Given the description of an element on the screen output the (x, y) to click on. 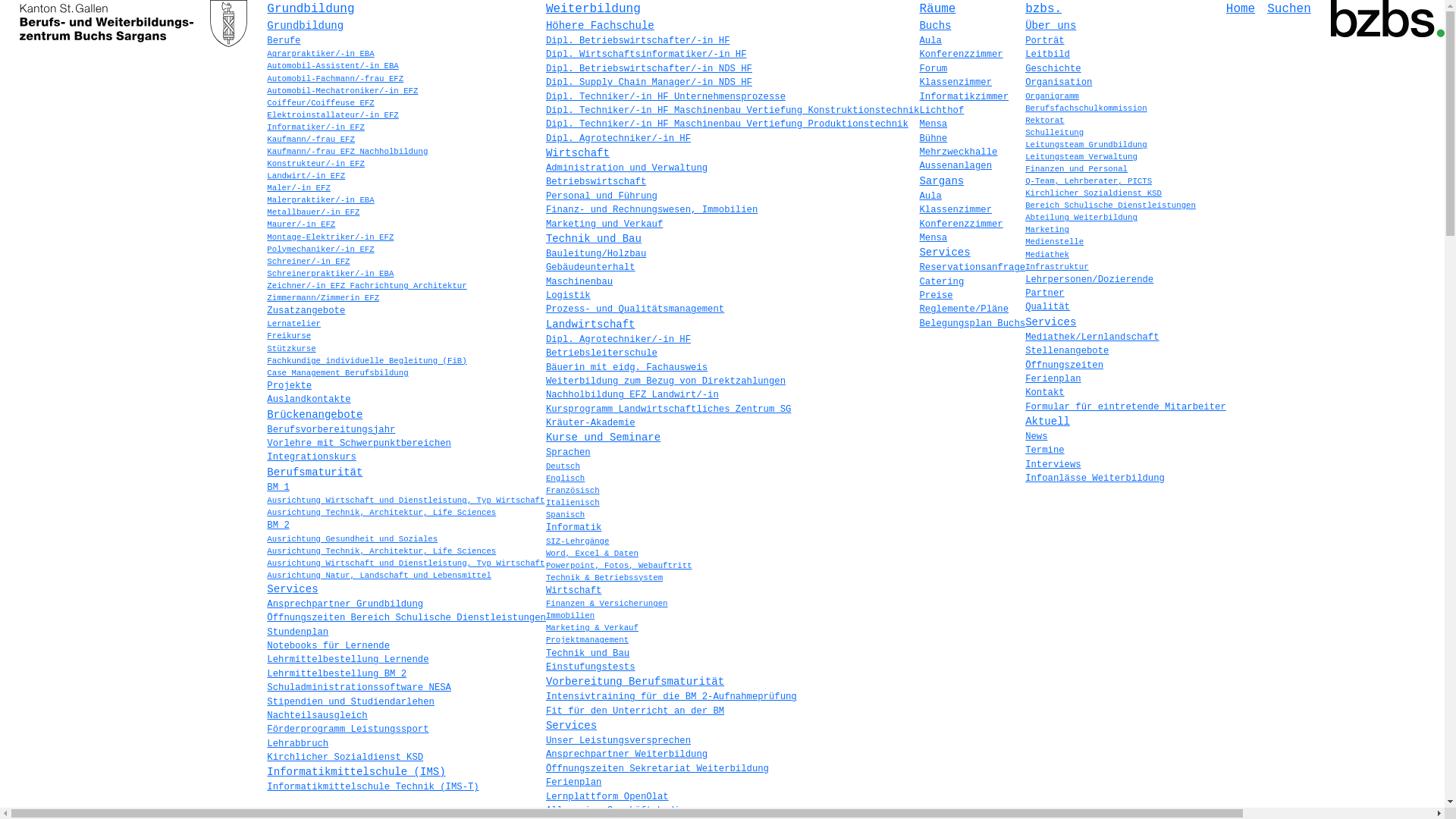
Lehrmittelbestellung BM 2 Element type: text (336, 673)
Buchs Element type: text (934, 25)
Immobilien Element type: text (570, 615)
Schulleitung Element type: text (1054, 132)
Zusatzangebote Element type: text (305, 310)
Q-Team, Lehrberater, PICTS Element type: text (1088, 180)
Ferienplan Element type: text (574, 782)
Berufsfachschulkommission Element type: text (1086, 107)
Stellenangebote Element type: text (1066, 350)
Leitungsteam Grundbildung Element type: text (1086, 144)
Integrationskurs Element type: text (311, 456)
Home Element type: text (1240, 8)
Mediathek Element type: text (1047, 254)
Leitungsteam Verwaltung Element type: text (1081, 156)
Mediathek/Lernlandschaft Element type: text (1091, 337)
Projektmanagement Element type: text (587, 639)
Dipl. Wirtschaftsinformatiker/-in HF Element type: text (646, 54)
Mensa Element type: text (933, 124)
Dipl. Agrotechniker/-in HF Element type: text (618, 339)
Interviews Element type: text (1053, 464)
Marketing und Verkauf Element type: text (604, 223)
Sargans Element type: text (941, 181)
Polymechaniker/-in EFZ Element type: text (319, 249)
Bereich Schulische Dienstleistungen Element type: text (1110, 205)
Partner Element type: text (1044, 293)
Lehrabbruch Element type: text (297, 743)
Deutsch Element type: text (563, 465)
Geschichte Element type: text (1053, 68)
Informatikmittelschule Technik (IMS-T) Element type: text (372, 786)
Termine Element type: text (1044, 450)
Lehrpersonen/Dozierende Element type: text (1089, 279)
Konstrukteur/-in EFZ Element type: text (315, 163)
Ausrichtung Wirtschaft und Dienstleistung, Typ Wirtschaft Element type: text (405, 562)
Grundbildung Element type: text (304, 25)
Berufe Element type: text (283, 40)
Informatiker/-in EFZ Element type: text (315, 126)
Spanisch Element type: text (565, 514)
Schreinerpraktiker/-in EBA Element type: text (329, 273)
Maurer/-in EFZ Element type: text (300, 224)
Dipl. Supply Chain Manager/-in NDS HF Element type: text (649, 82)
Mensa Element type: text (933, 237)
Ferienplan Element type: text (1053, 378)
Ausrichtung Natur, Landschaft und Lebensmittel Element type: text (378, 575)
Kontakt Element type: text (1044, 392)
Coiffeur/Coiffeuse EFZ Element type: text (319, 102)
Ausrichtung Technik, Architektur, Life Sciences Element type: text (380, 512)
Services Element type: text (571, 725)
Automobil-Mechatroniker/-in EFZ Element type: text (341, 90)
Wirtschaft Element type: text (574, 590)
Kurse und Seminare Element type: text (603, 437)
Infrastruktur Element type: text (1056, 266)
Word, Excel & Daten Element type: text (592, 553)
Unser Leistungsversprechen Element type: text (618, 740)
Wirtschaft Element type: text (577, 153)
Ansprechpartner Weiterbildung Element type: text (626, 754)
Stundenplan Element type: text (297, 632)
Reservationsanfrage Element type: text (972, 267)
Kirchlicher Sozialdienst KSD Element type: text (1093, 192)
Administration und Verwaltung Element type: text (626, 168)
Rektorat Element type: text (1044, 120)
Powerpoint, Fotos, Webauftritt Element type: text (619, 565)
Lehrmittelbestellung Lernende Element type: text (347, 659)
Landwirtschaft Element type: text (590, 324)
Informatik Element type: text (574, 527)
Dipl. Techniker/-in HF Unternehmensprozesse Element type: text (665, 96)
Aula Element type: text (930, 40)
Catering Element type: text (941, 281)
Informatikzimmer Element type: text (963, 96)
Nachholbildung EFZ Landwirt/-in Element type: text (632, 394)
Logistik Element type: text (568, 295)
Projekte Element type: text (288, 385)
Freikurse Element type: text (288, 335)
Aktuell Element type: text (1047, 421)
Betriebsleiterschule Element type: text (601, 353)
Maschinenbau Element type: text (579, 281)
bzbs. Element type: text (1043, 8)
Berufsvorbereitungsjahr Element type: text (330, 429)
Informatikmittelschule (IMS) Element type: text (355, 771)
Metallbauer/-in EFZ Element type: text (312, 211)
Maler/-in EFZ Element type: text (298, 187)
Aussenanlagen Element type: text (955, 165)
Englisch Element type: text (565, 478)
Dipl. Betriebswirtschafter/-in NDS HF Element type: text (649, 68)
Konferenzzimmer Element type: text (960, 223)
Aula Element type: text (930, 196)
Dipl. Agrotechniker/-in HF Element type: text (618, 138)
Montage-Elektriker/-in EFZ Element type: text (329, 236)
Sprachen Element type: text (568, 452)
Vorlehre mit Schwerpunktbereichen Element type: text (358, 443)
Leitbild Element type: text (1047, 54)
Lichthof Element type: text (941, 110)
Lernplattform OpenOlat Element type: text (607, 796)
Preise Element type: text (935, 295)
Finanz- und Rechnungswesen, Immobilien Element type: text (651, 209)
Dipl. Betriebswirtschafter/-in HF Element type: text (638, 40)
Ausrichtung Gesundheit und Soziales Element type: text (351, 538)
BM 2 Element type: text (277, 525)
Elektroinstallateur/-in EFZ Element type: text (332, 114)
Services Element type: text (944, 252)
Konferenzzimmer Element type: text (960, 54)
Weiterbildung Element type: text (593, 8)
Malerpraktiker/-in EBA Element type: text (319, 199)
Kaufmann/-frau EFZ Element type: text (310, 139)
Kaufmann/-frau EFZ Nachholbildung Element type: text (346, 151)
Schuladministrationssoftware NESA Element type: text (358, 687)
Technik & Betriebssystem Element type: text (604, 577)
Automobil-Fachmann/-frau EFZ Element type: text (334, 78)
Klassenzimmer Element type: text (955, 209)
Stipendien und Studiendarlehen Element type: text (350, 701)
Abteilung Weiterbildung Element type: text (1081, 217)
Ausrichtung Technik, Architektur, Life Sciences Element type: text (380, 550)
Nachteilsausgleich Element type: text (316, 715)
Organisation Element type: text (1058, 82)
Betriebswirtschaft Element type: text (596, 181)
Kirchlicher Sozialdienst KSD Element type: text (344, 757)
Bauleitung/Holzbau Element type: text (596, 253)
Zimmermann/Zimmerin EFZ Element type: text (322, 297)
Kursprogramm Landwirtschaftliches Zentrum SG Element type: text (668, 409)
Weiterbildung zum Bezug von Direktzahlungen Element type: text (665, 381)
Finanzen und Personal Element type: text (1076, 168)
Case Management Berufsbildung Element type: text (336, 372)
Medienstelle Element type: text (1054, 241)
Auslandkontakte Element type: text (308, 399)
Grundbildung Element type: text (310, 8)
Lernatelier Element type: text (293, 323)
Services Element type: text (1050, 322)
Einstufungstests Element type: text (590, 667)
Klassenzimmer Element type: text (955, 82)
Automobil-Assistent/-in EBA Element type: text (332, 65)
Agrarpraktiker/-in EBA Element type: text (319, 53)
Ausrichtung Wirtschaft und Dienstleistung, Typ Wirtschaft Element type: text (405, 500)
Forum Element type: text (933, 68)
Technik und Bau Element type: text (587, 653)
Technik und Bau Element type: text (593, 238)
Mehrzweckhalle Element type: text (958, 152)
Landwirt/-in EFZ Element type: text (305, 175)
Finanzen & Versicherungen Element type: text (607, 603)
Belegungsplan Buchs Element type: text (972, 323)
Organigramm Element type: text (1052, 95)
News Element type: text (1036, 436)
Zeichner/-in EFZ Fachrichtung Architektur Element type: text (366, 285)
Fachkundige individuelle Begleitung (FiB) Element type: text (366, 360)
Schreiner/-in EFZ Element type: text (307, 261)
Ansprechpartner Grundbildung Element type: text (344, 604)
Italienisch Element type: text (572, 502)
BM 1 Element type: text (277, 487)
Marketing & Verkauf Element type: text (592, 627)
Marketing Element type: text (1047, 229)
Services Element type: text (291, 589)
